Given the description of an element on the screen output the (x, y) to click on. 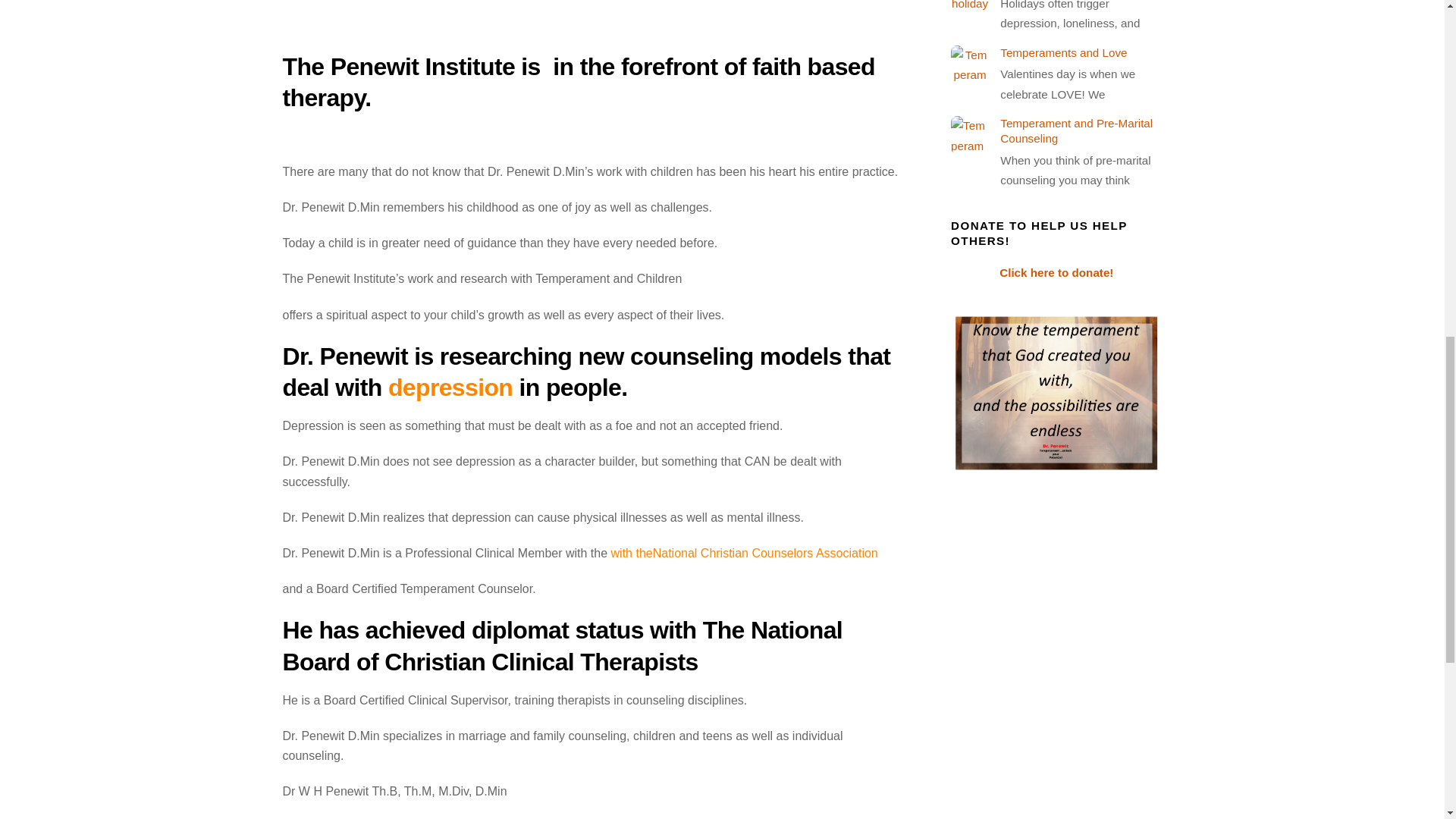
depression (450, 387)
Temperaments and Love (1055, 52)
with theNational Christian Counselors Association (744, 553)
